Given the description of an element on the screen output the (x, y) to click on. 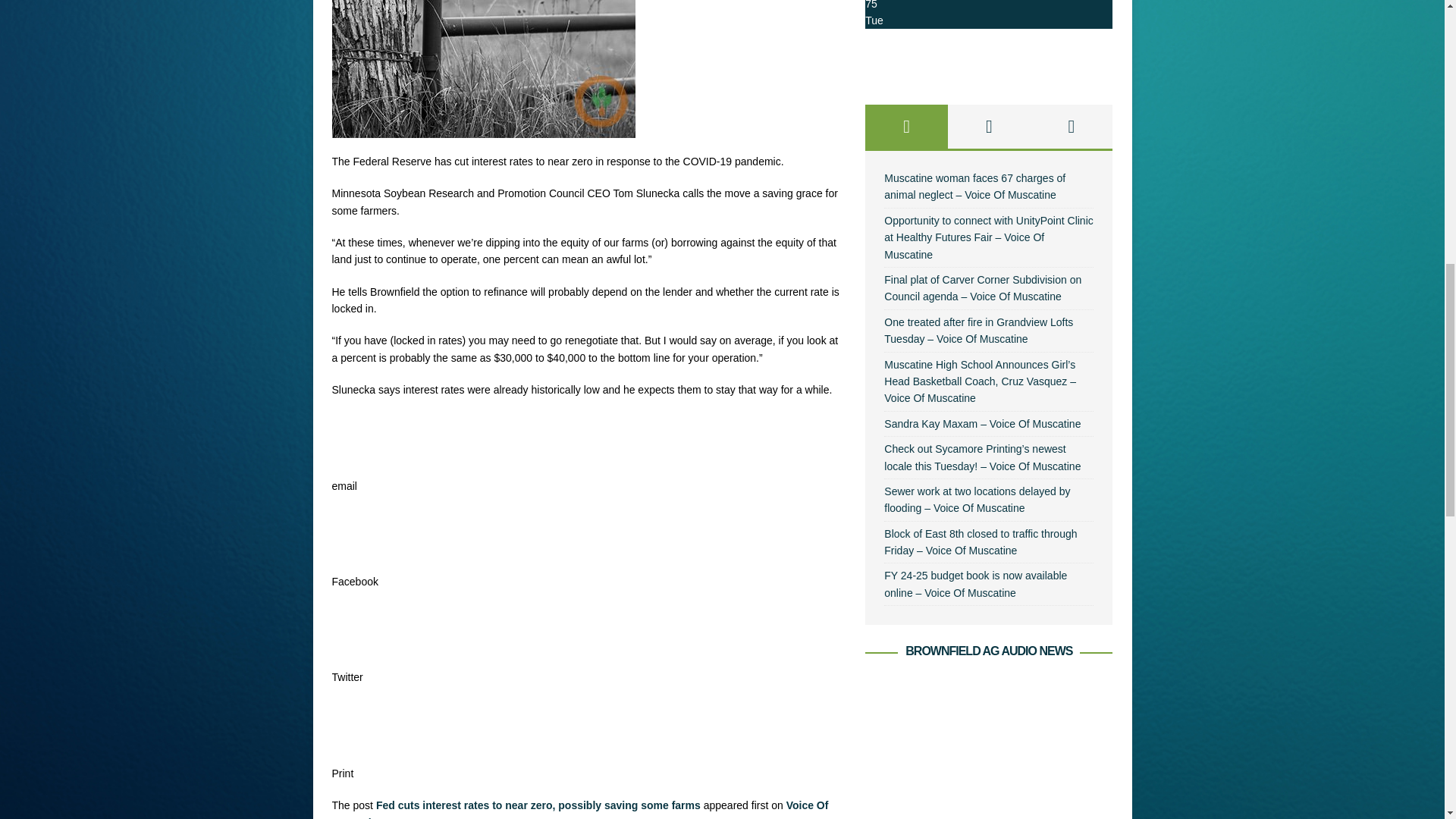
Facebook (355, 533)
Email (355, 438)
Voice Of Muscatine (579, 809)
Twitter (355, 629)
Print (355, 725)
